Given the description of an element on the screen output the (x, y) to click on. 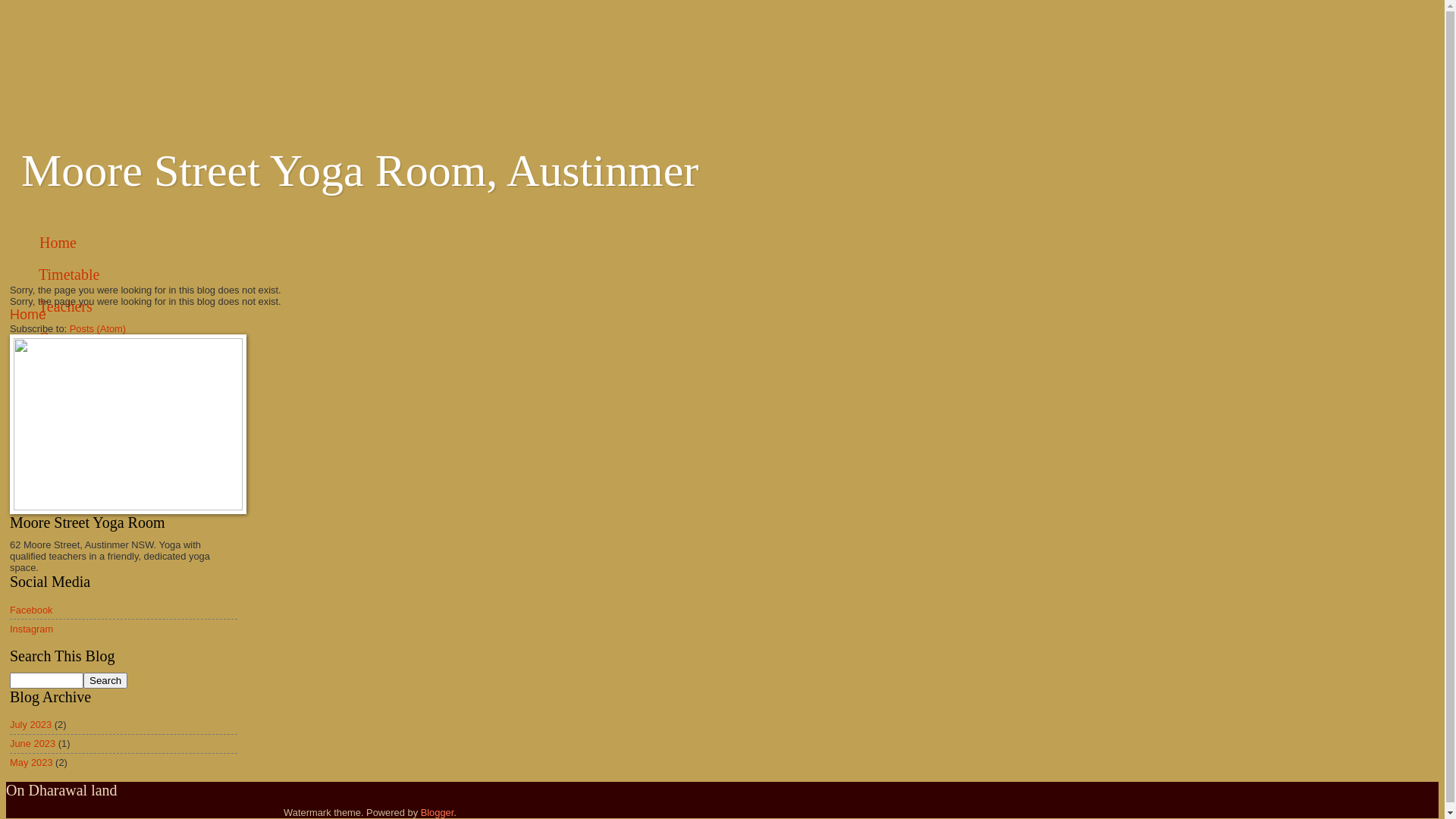
Search Element type: text (105, 680)
Contact Element type: text (62, 338)
May 2023 Element type: text (31, 762)
Blogger Element type: text (437, 812)
Teachers Element type: text (65, 306)
Instagram Element type: text (31, 628)
Home Element type: text (57, 242)
Moore Street Yoga Room, Austinmer Element type: text (359, 170)
Posts (Atom) Element type: text (97, 328)
search Element type: hover (105, 680)
Facebook Element type: text (31, 609)
search Element type: hover (46, 680)
Timetable Element type: text (69, 274)
June 2023 Element type: text (32, 743)
Home Element type: text (27, 314)
July 2023 Element type: text (30, 724)
